Given the description of an element on the screen output the (x, y) to click on. 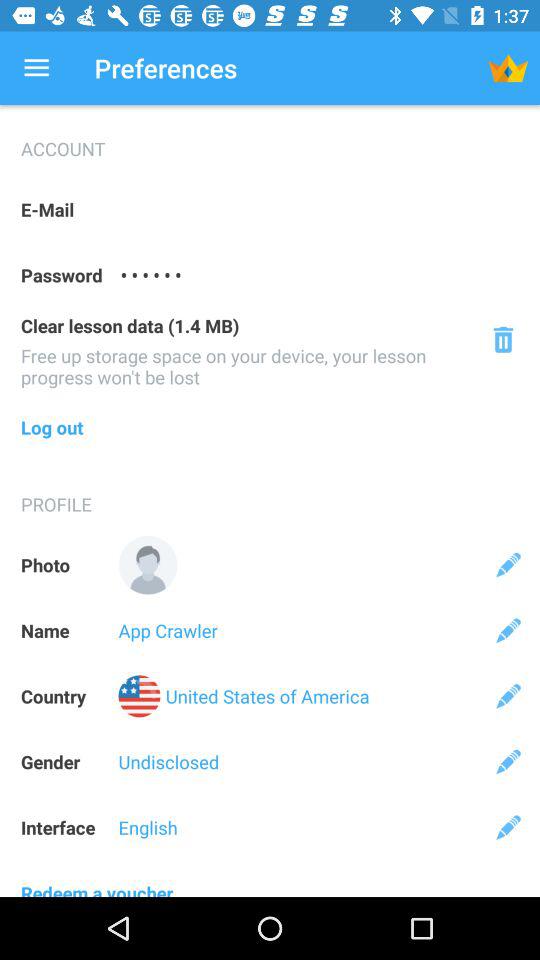
choose the icon above the redeem a voucher (508, 827)
